Given the description of an element on the screen output the (x, y) to click on. 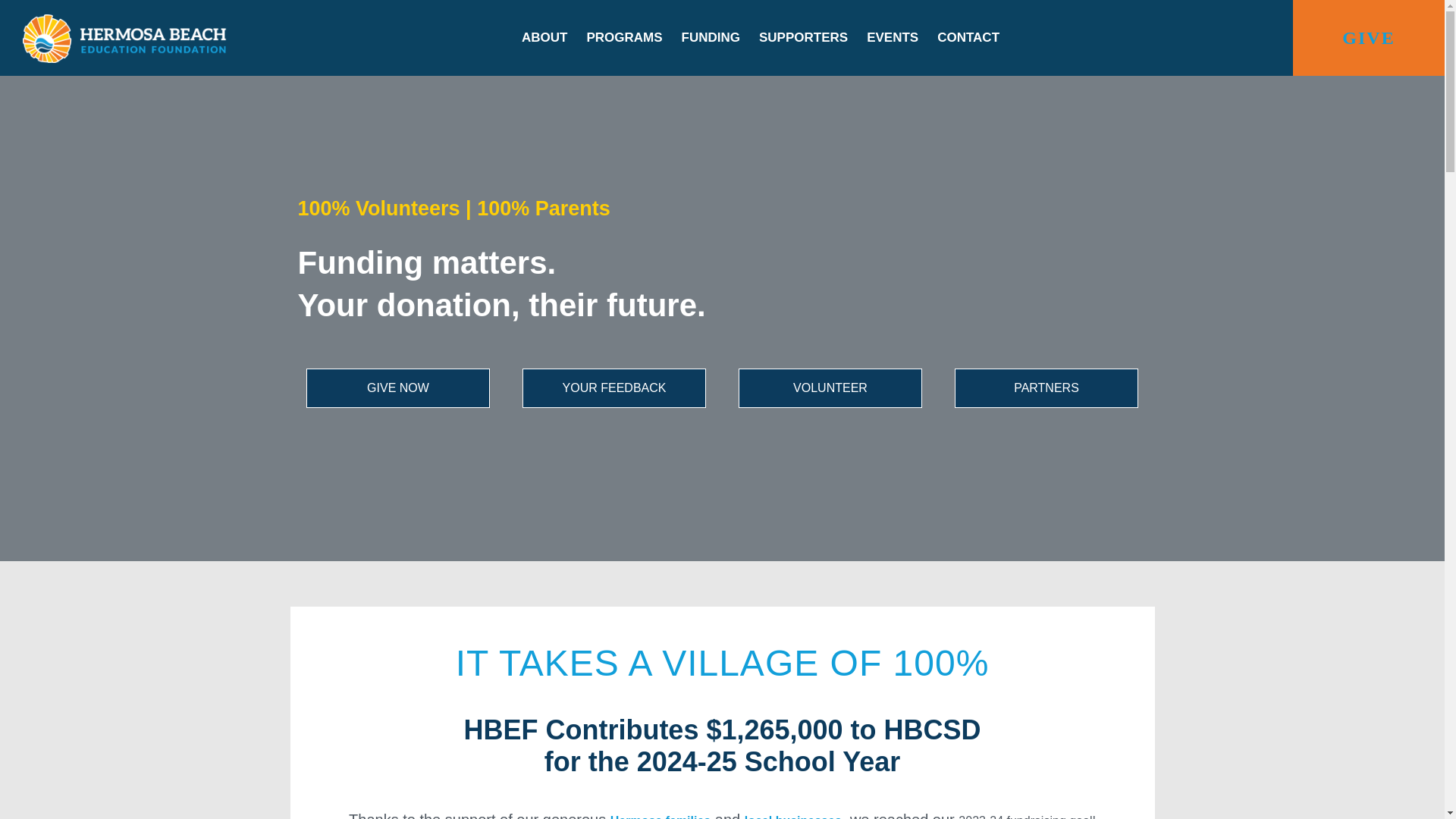
PROGRAMS (624, 38)
GIVE NOW (397, 387)
SUPPORTERS (802, 38)
